Given the description of an element on the screen output the (x, y) to click on. 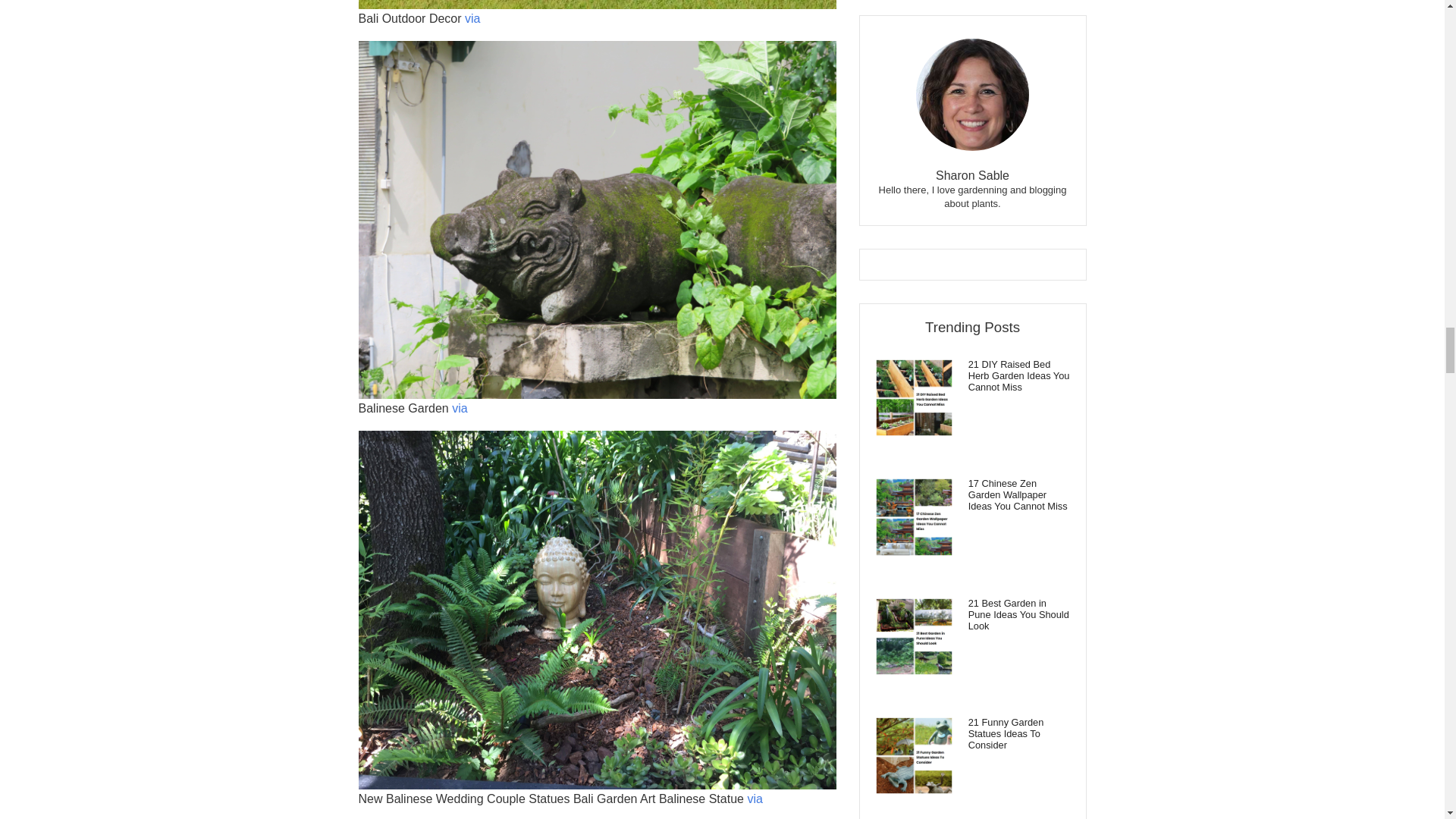
via (753, 798)
via (472, 18)
via (459, 408)
